Given the description of an element on the screen output the (x, y) to click on. 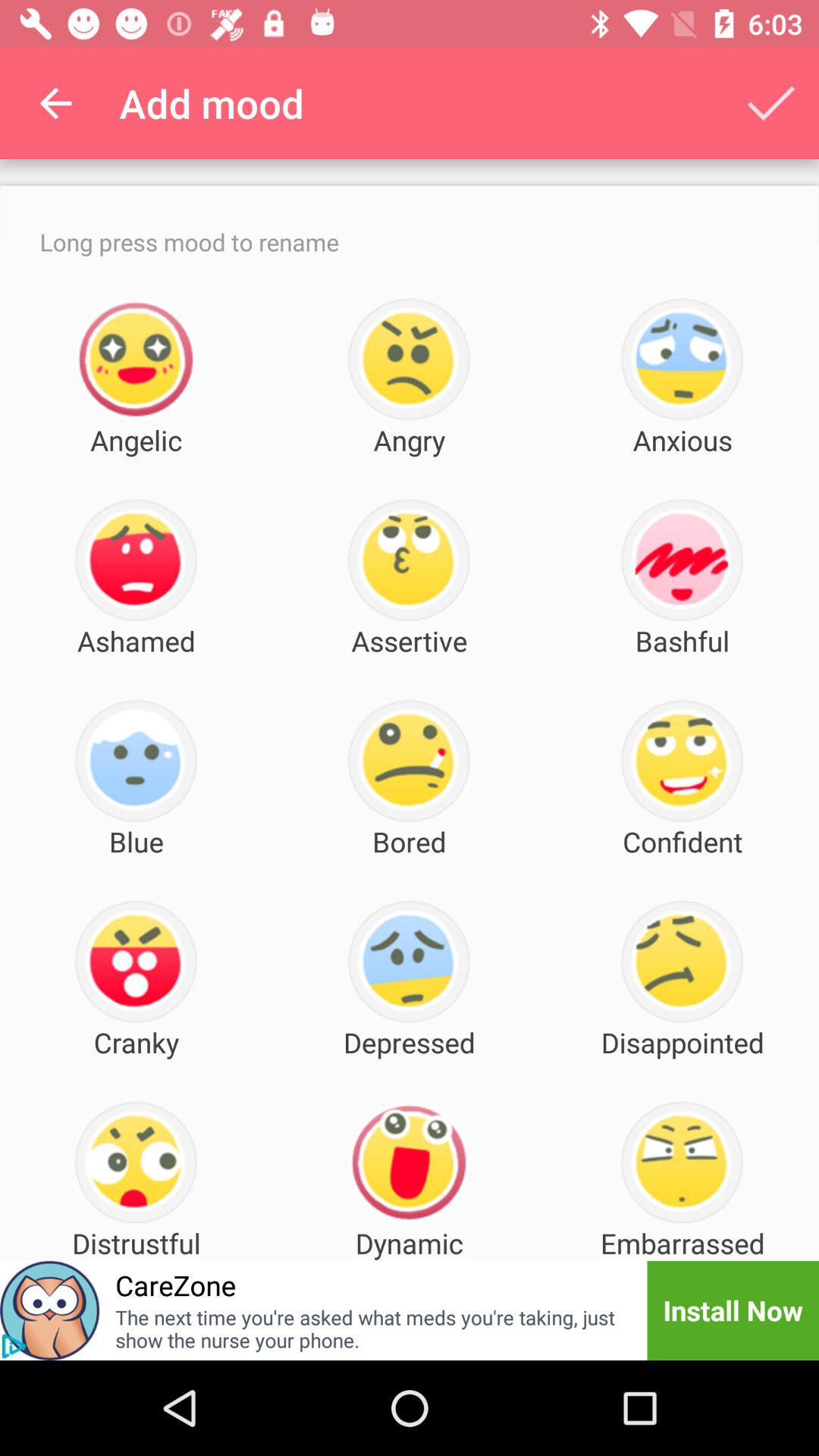
get information on the advertiser network (14, 1346)
